Given the description of an element on the screen output the (x, y) to click on. 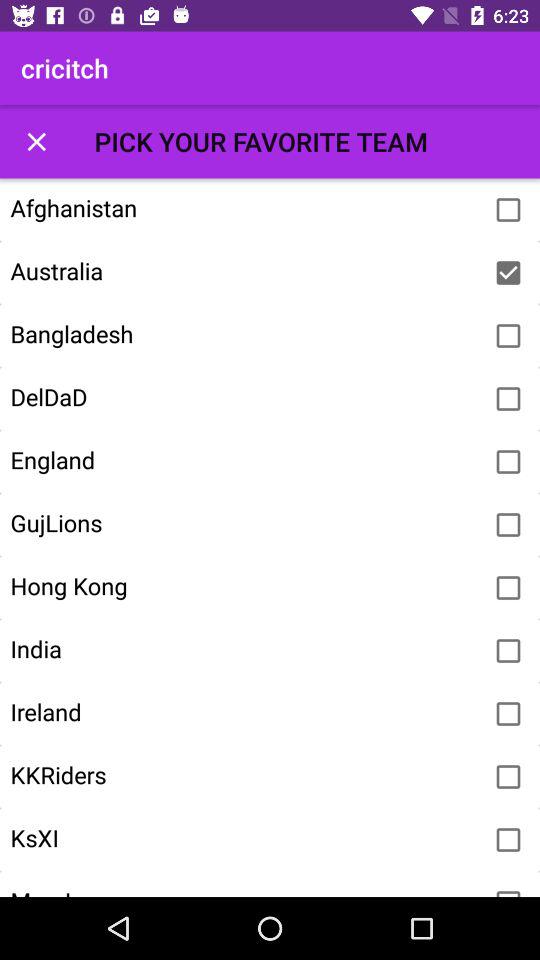
check box for selection (508, 210)
